Given the description of an element on the screen output the (x, y) to click on. 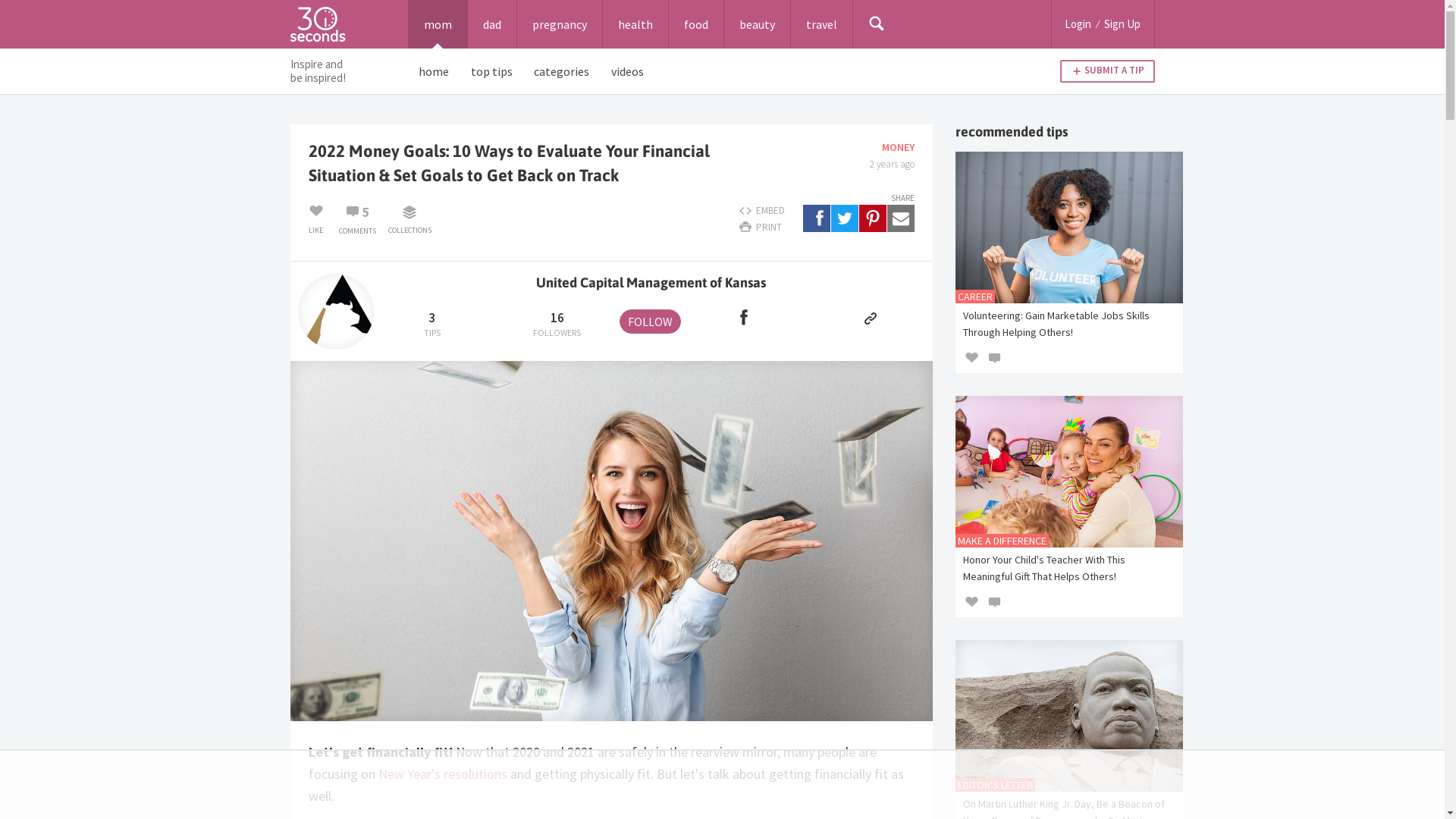
3rd party ad content Element type: hover (721, 784)
16
FOLLOWERS Element type: text (556, 324)
videos Element type: text (627, 70)
PRINT Element type: text (761, 228)
EDITOR'S LETTER Element type: text (995, 784)
CAREER Element type: text (974, 296)
United Capital Management of Kansas Element type: text (651, 282)
5
COMMENTS Element type: text (357, 218)
EMBED Element type: text (761, 211)
SUBMIT A TIP Element type: text (1107, 71)
mom Element type: text (436, 24)
health Element type: text (634, 24)
New Year's resolutions Element type: text (441, 773)
food Element type: text (695, 24)
MONEY Element type: text (897, 146)
FOLLOW Element type: text (649, 321)
LIKE Element type: text (315, 218)
categories Element type: text (561, 70)
home Element type: text (433, 70)
COLLECTIONS Element type: text (409, 218)
3
TIPS Element type: text (432, 324)
Login Element type: text (1078, 24)
dad Element type: text (491, 24)
pregnancy Element type: text (559, 24)
top tips Element type: text (491, 70)
travel Element type: text (820, 24)
Sign Up Element type: text (1122, 24)
beauty Element type: text (756, 24)
MAKE A DIFFERENCE Element type: text (1001, 540)
